Given the description of an element on the screen output the (x, y) to click on. 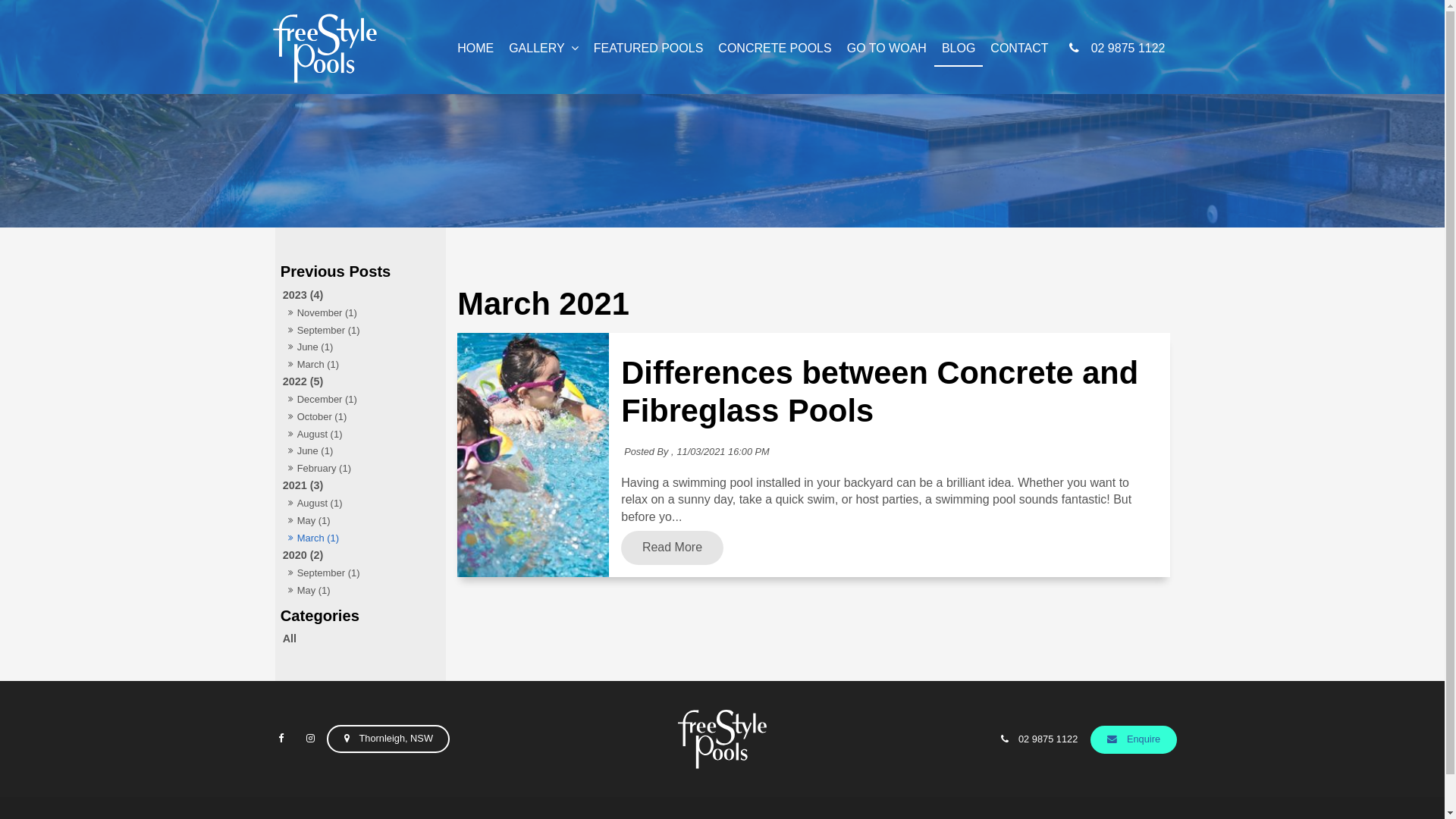
November (1) Element type: text (360, 312)
2021 (3) Element type: text (360, 485)
GALLERY Element type: text (543, 49)
CONTACT Element type: text (1018, 49)
GO TO WOAH Element type: text (886, 49)
BLOG Element type: text (958, 49)
March (1) Element type: text (360, 364)
June (1) Element type: text (360, 346)
HOME Element type: text (475, 49)
FEATURED POOLS Element type: text (648, 49)
Enquire Element type: text (1133, 739)
Thornleigh, NSW Element type: text (387, 738)
March (1) Element type: text (360, 538)
May (1) Element type: text (360, 520)
All Element type: text (360, 638)
December (1) Element type: text (360, 399)
June (1) Element type: text (360, 450)
September (1) Element type: text (360, 330)
Read More Element type: text (671, 547)
August (1) Element type: text (360, 503)
August (1) Element type: text (360, 434)
May (1) Element type: text (360, 590)
CONCRETE POOLS Element type: text (774, 49)
February (1) Element type: text (360, 468)
2022 (5) Element type: text (360, 381)
2023 (4) Element type: text (360, 295)
September (1) Element type: text (360, 572)
October (1) Element type: text (360, 416)
2020 (2) Element type: text (360, 555)
